Given the description of an element on the screen output the (x, y) to click on. 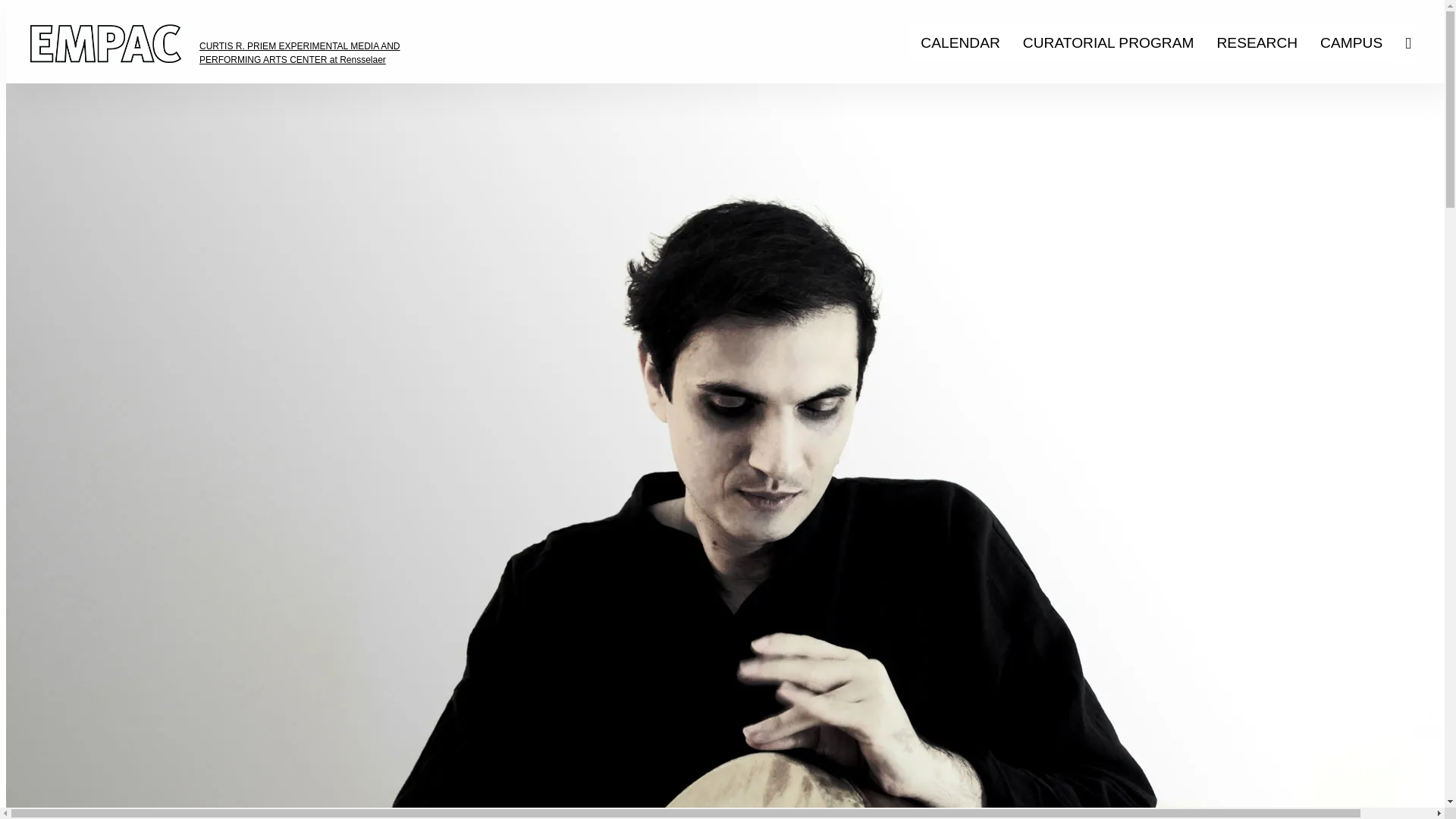
CALENDAR (959, 42)
SEARCH (1413, 43)
search (1413, 43)
RESEARCH (1256, 42)
CURATORIAL PROGRAM (1108, 42)
Home (92, 82)
CAMPUS (1350, 42)
About the curated program at EMPAC (1108, 42)
